Given the description of an element on the screen output the (x, y) to click on. 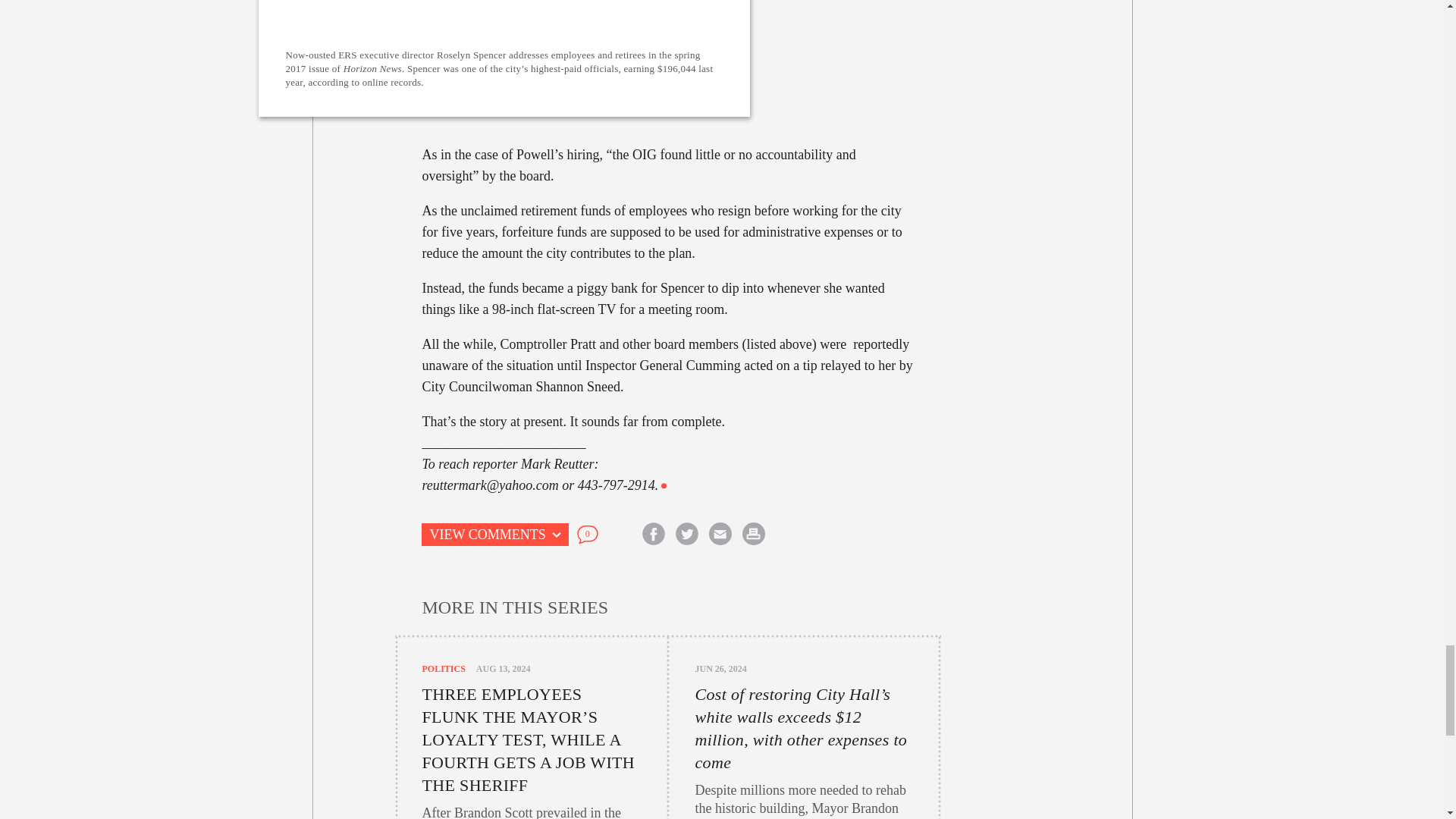
VIEW COMMENTS0 (531, 534)
Share on Twitter (686, 533)
Print this article (753, 533)
POLITICS (443, 668)
Share on Facebook (653, 533)
Email this article (719, 533)
